Given the description of an element on the screen output the (x, y) to click on. 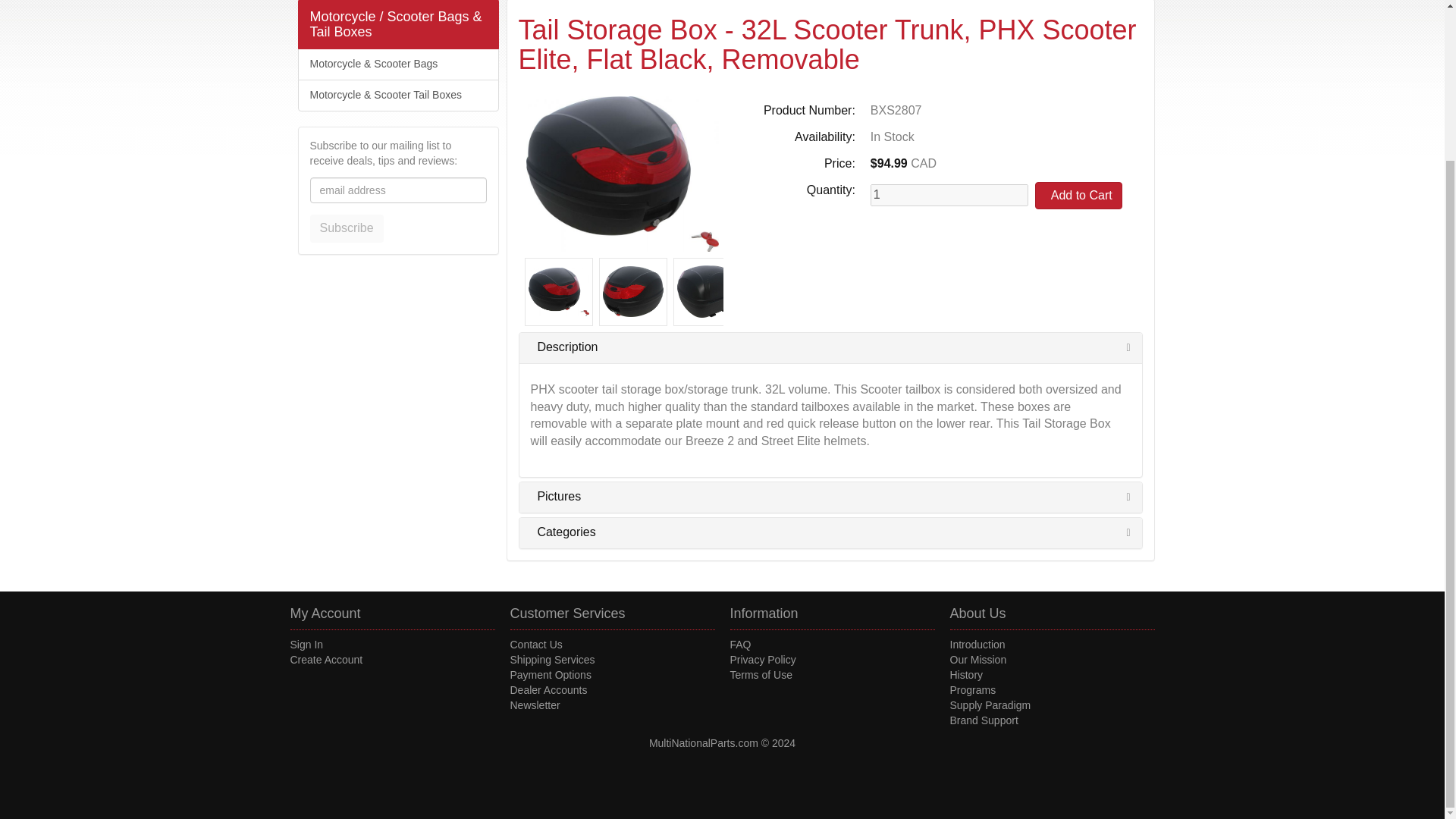
1 (948, 195)
